Given the description of an element on the screen output the (x, y) to click on. 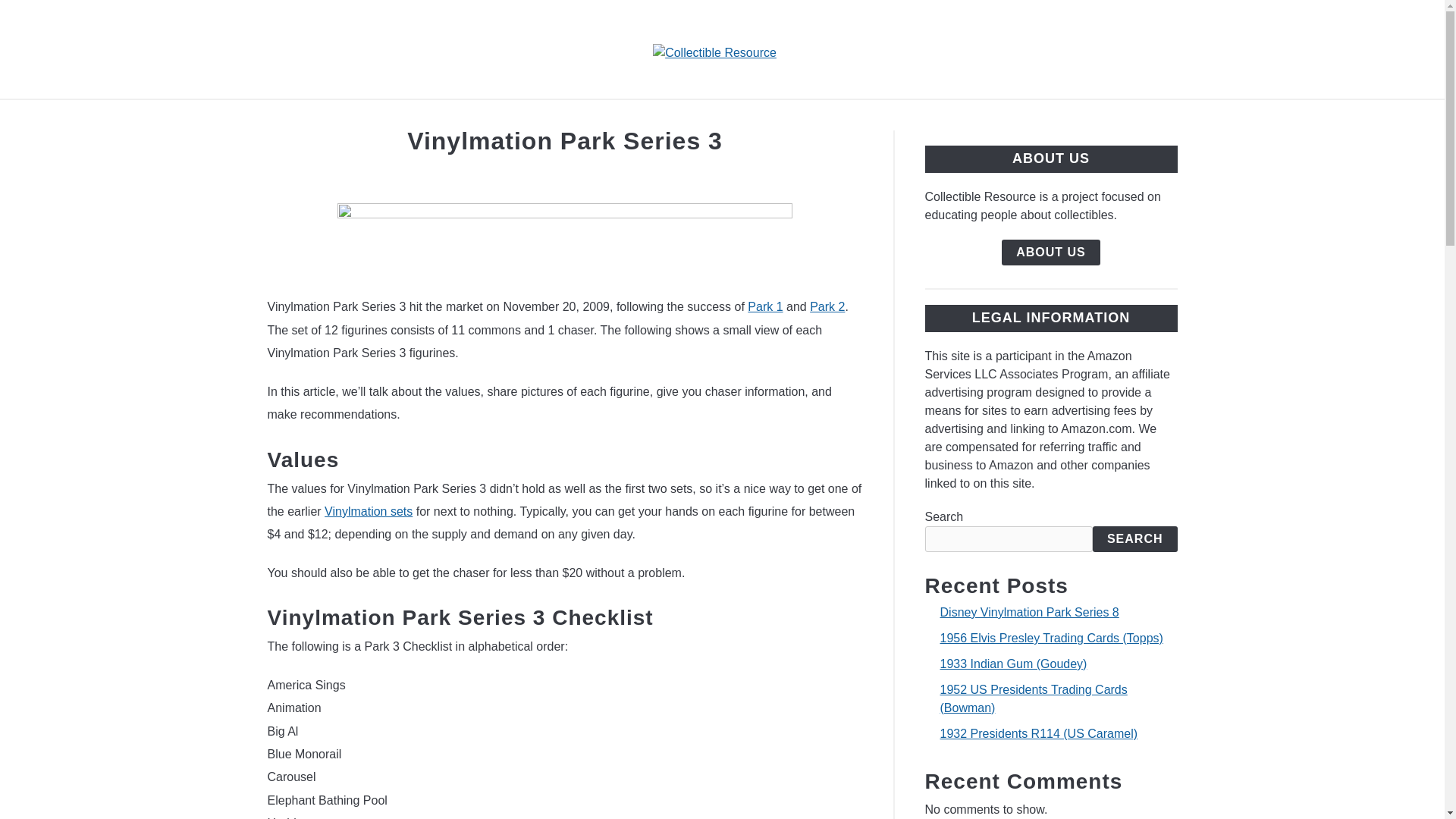
TRADING CARDS (733, 117)
Vinylmation sets (368, 511)
ABOUT US (1050, 252)
DISNEYANA (602, 117)
Park 2 (826, 306)
COLLECTIBLE COINS (460, 117)
SEARCH (1135, 539)
ABOUT COLLECTIBLE RESOURCE (938, 117)
Search (1203, 49)
Park 1 (765, 306)
